Given the description of an element on the screen output the (x, y) to click on. 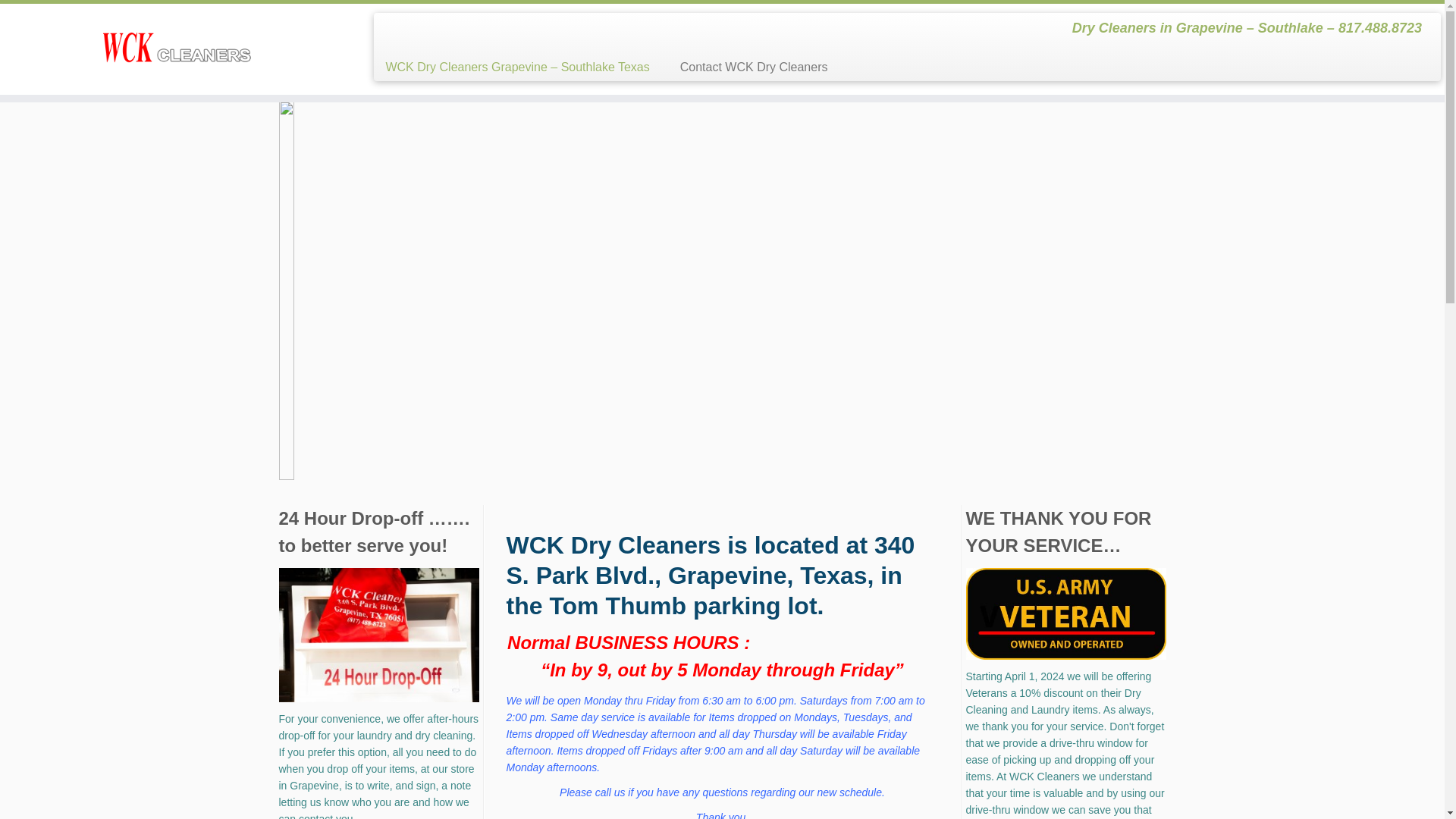
Contact WCK Dry Cleaners (746, 67)
